Given the description of an element on the screen output the (x, y) to click on. 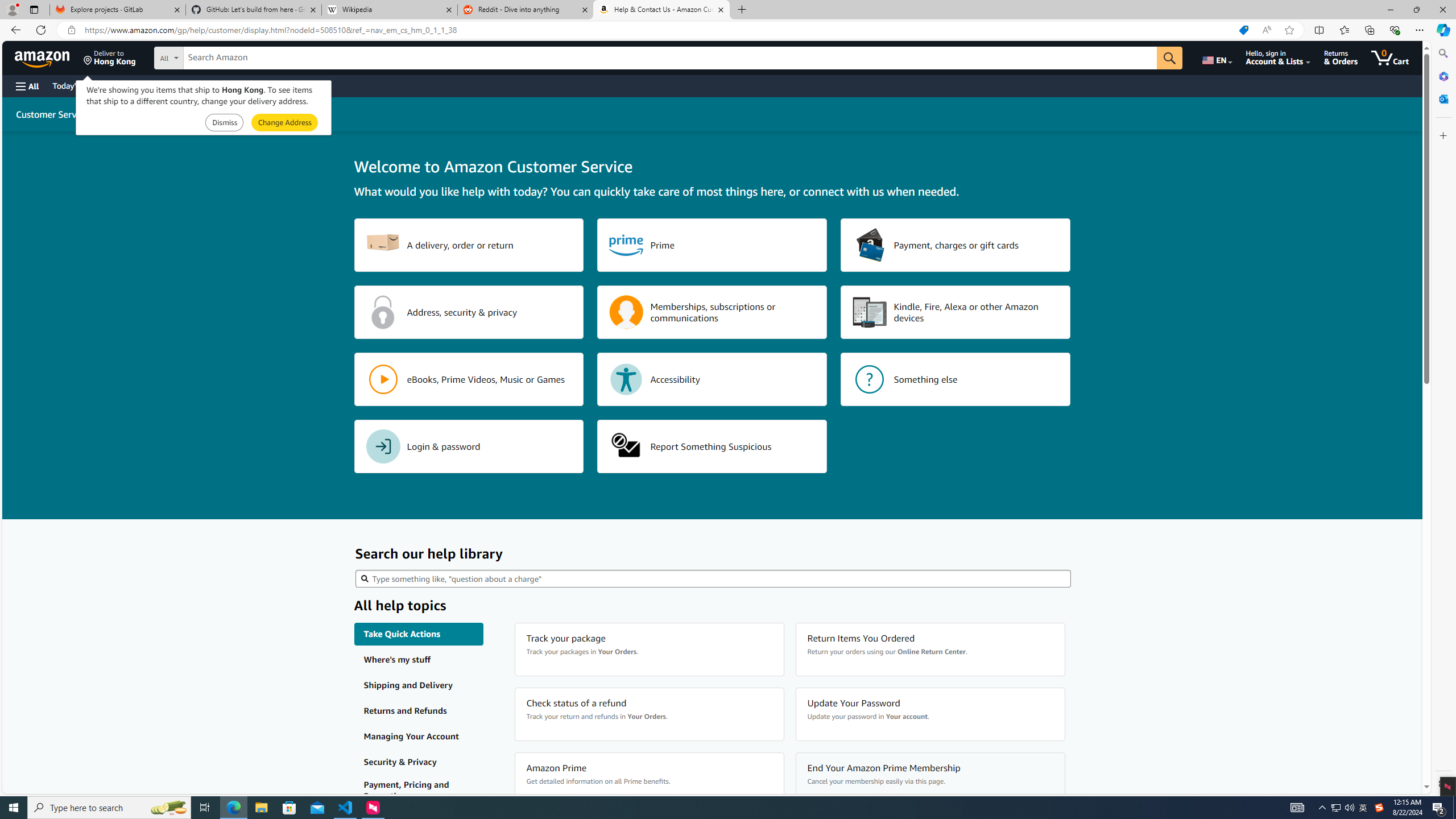
Amazon (43, 57)
Kindle, Fire, Alexa or other Amazon devices (955, 312)
Submit (284, 122)
Deliver to Hong Kong (109, 57)
Prime (711, 244)
Amazon Prime Get detailed information on all Prime benefits. (648, 778)
